Given the description of an element on the screen output the (x, y) to click on. 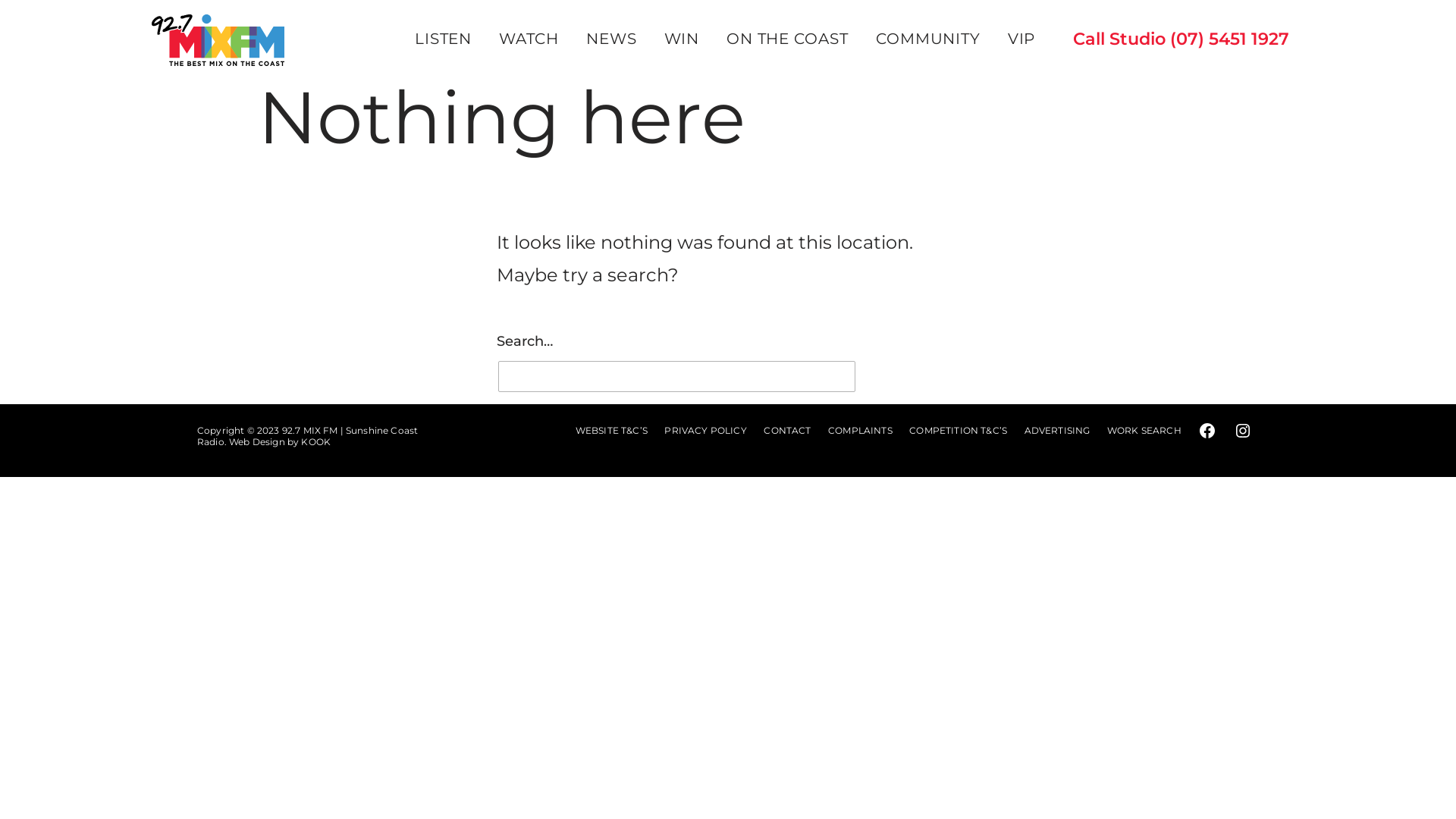
Connect with us on Facebook Element type: hover (1207, 430)
NEWS Element type: text (611, 38)
WIN Element type: text (681, 38)
WATCH Element type: text (528, 38)
Connect with us on Instagram Element type: hover (1242, 430)
LISTEN Element type: text (442, 38)
Search Element type: text (917, 381)
VIP Element type: text (1021, 38)
WORK SEARCH Element type: text (1144, 430)
KOOK Element type: text (315, 441)
PRIVACY POLICY Element type: text (705, 430)
COMPLAINTS Element type: text (860, 430)
ADVERTISING Element type: text (1057, 430)
COMMUNITY Element type: text (927, 38)
92.7 MIX FM | Sunshine Coast Radio Element type: text (307, 435)
CONTACT Element type: text (786, 430)
Call Studio (07) 5451 1927 Element type: text (1175, 40)
ON THE COAST Element type: text (786, 38)
